Given the description of an element on the screen output the (x, y) to click on. 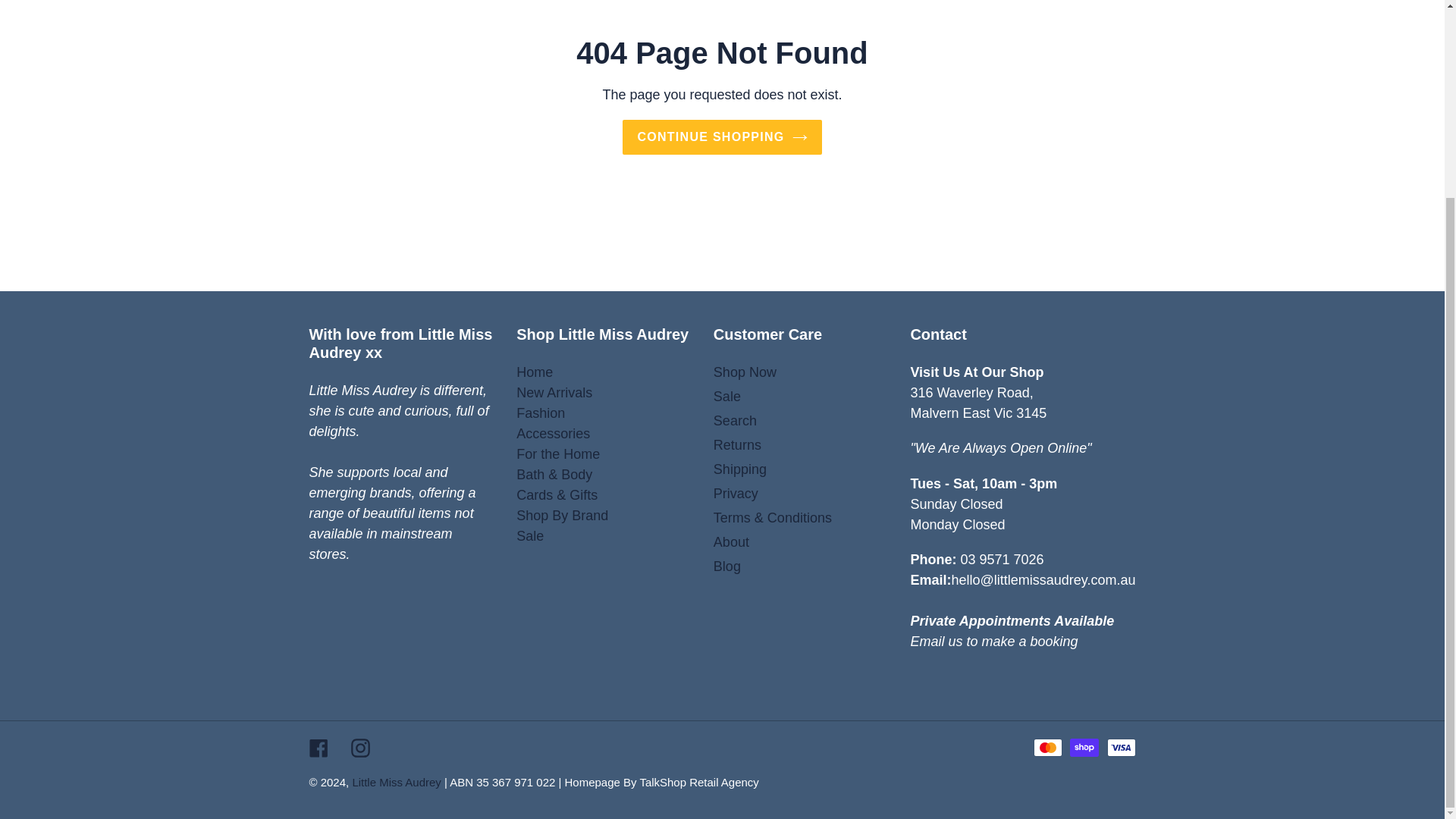
For The Home (557, 453)
Shop By Brands (562, 515)
Fashion (540, 412)
Sale (529, 535)
New Arrivals (554, 392)
